Given the description of an element on the screen output the (x, y) to click on. 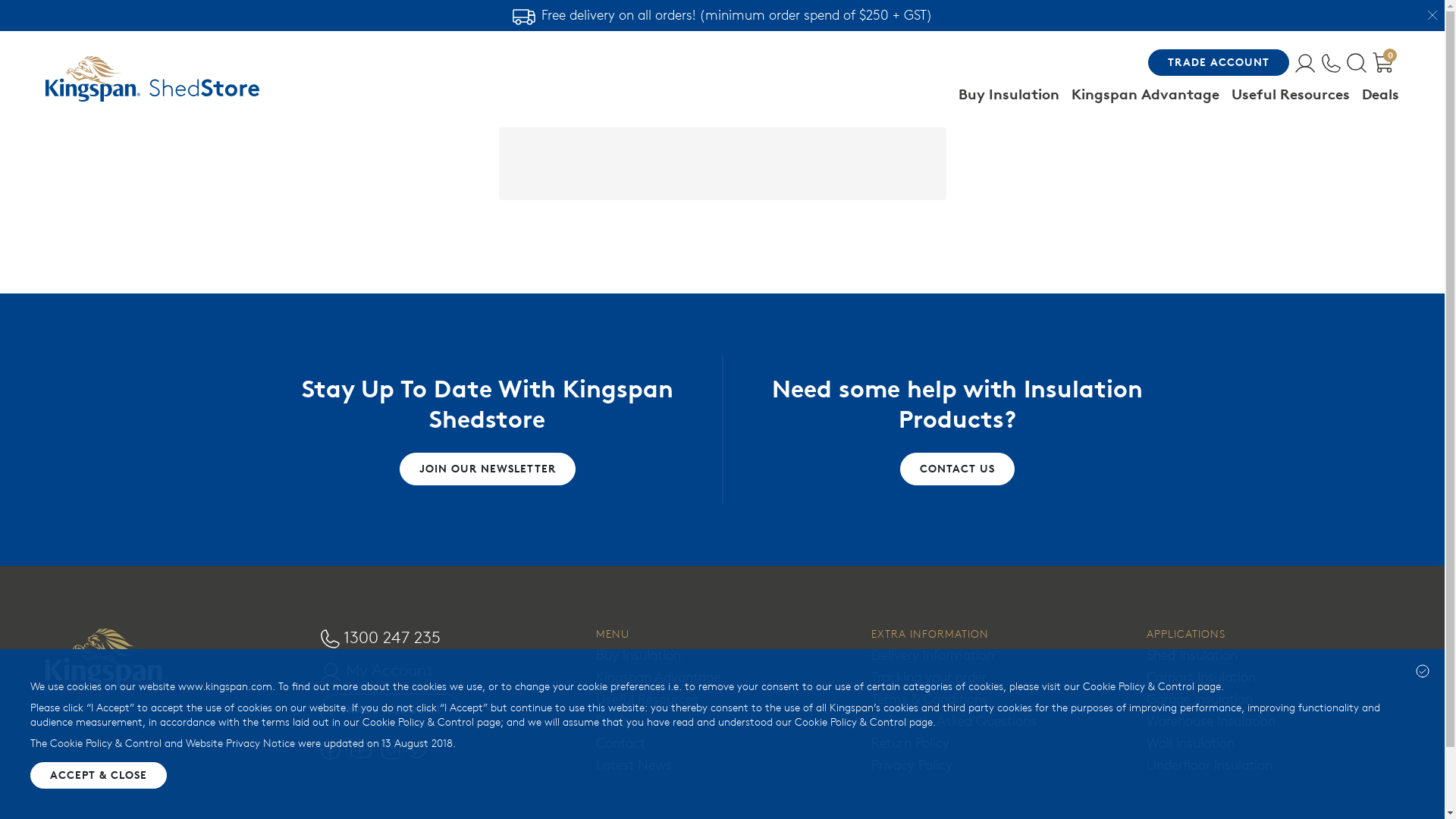
CONTACT US Element type: text (957, 468)
Deals Element type: text (1380, 93)
0 Element type: text (1382, 62)
Tracking your order Element type: text (928, 676)
ACCEPT & CLOSE Element type: text (98, 775)
Buy Insulation Element type: text (638, 654)
Terms & Conditions Element type: text (929, 698)
Kingspan Advantage Element type: text (658, 676)
Garage Insulation Element type: text (1199, 698)
TRADE ACCOUNT Element type: text (1218, 62)
Latest News Element type: text (633, 764)
Frequently Asked Questions Element type: text (953, 720)
Contact Element type: text (620, 742)
Return Policy Element type: text (910, 742)
JOIN OUR NEWSLETTER Element type: text (486, 468)
Useful Resources Element type: text (647, 698)
Privacy Policy Element type: text (911, 764)
Kingspan ShedStore Element type: hover (152, 78)
TRADE ACCOUNT Element type: text (390, 709)
Warehouse Insulation Element type: text (1210, 720)
1300 247 235 Element type: text (380, 636)
Carport Insulation Element type: text (1200, 676)
Delivery Information Element type: text (932, 654)
Deals Element type: text (612, 720)
Kingspan Advantage Element type: text (1145, 93)
My Account Element type: text (376, 669)
Shed Insulation Element type: text (1191, 654)
Wall Insulation Element type: text (1190, 742)
Underfloor Insulation Element type: text (1209, 764)
Buy Insulation Element type: text (1008, 93)
Useful Resources Element type: text (1290, 93)
